Given the description of an element on the screen output the (x, y) to click on. 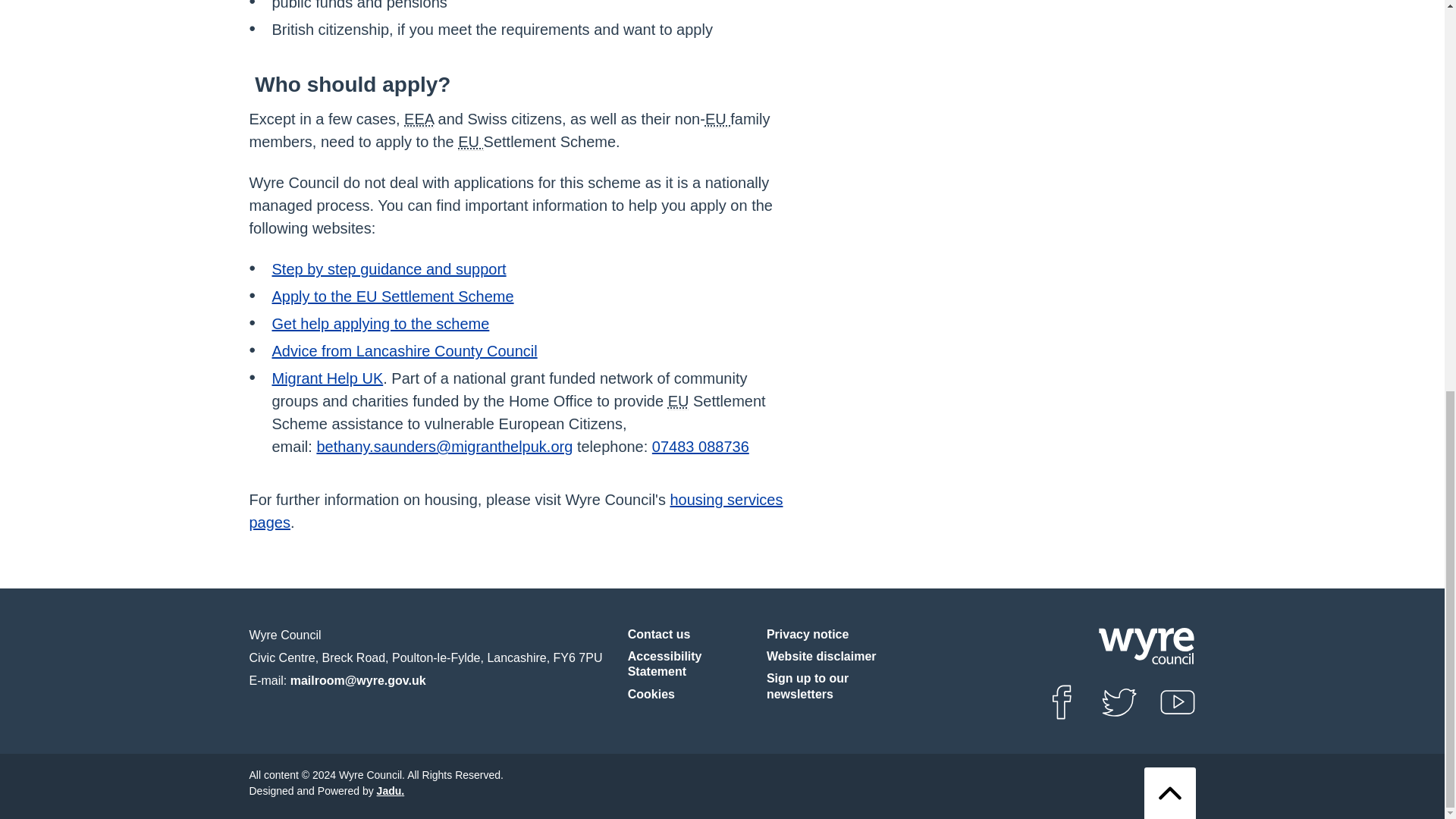
Step by step guidance and support (387, 269)
Contact us (658, 634)
Wyre Council Home Page (1145, 645)
European Union (678, 401)
Privacy notice (807, 634)
Accessibility Statement (690, 664)
European Union (717, 118)
Migrant Help UK (326, 378)
Apply to the EU Settlement Scheme (391, 296)
Website disclaimer (821, 657)
